Given the description of an element on the screen output the (x, y) to click on. 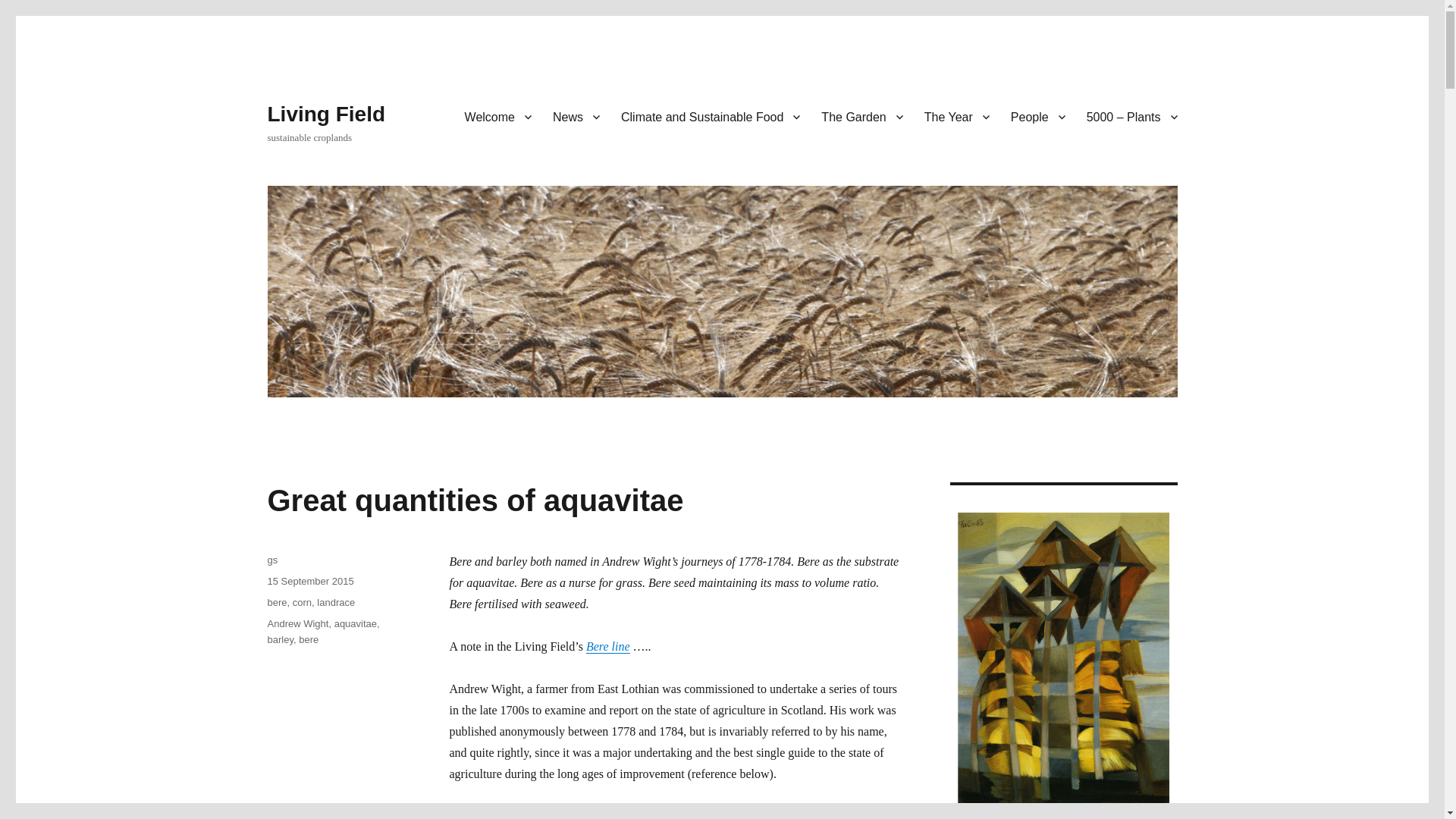
News (575, 116)
Climate and Sustainable Food (710, 116)
Welcome (497, 116)
Living Field (325, 114)
The Year (957, 116)
The Garden (861, 116)
